Given the description of an element on the screen output the (x, y) to click on. 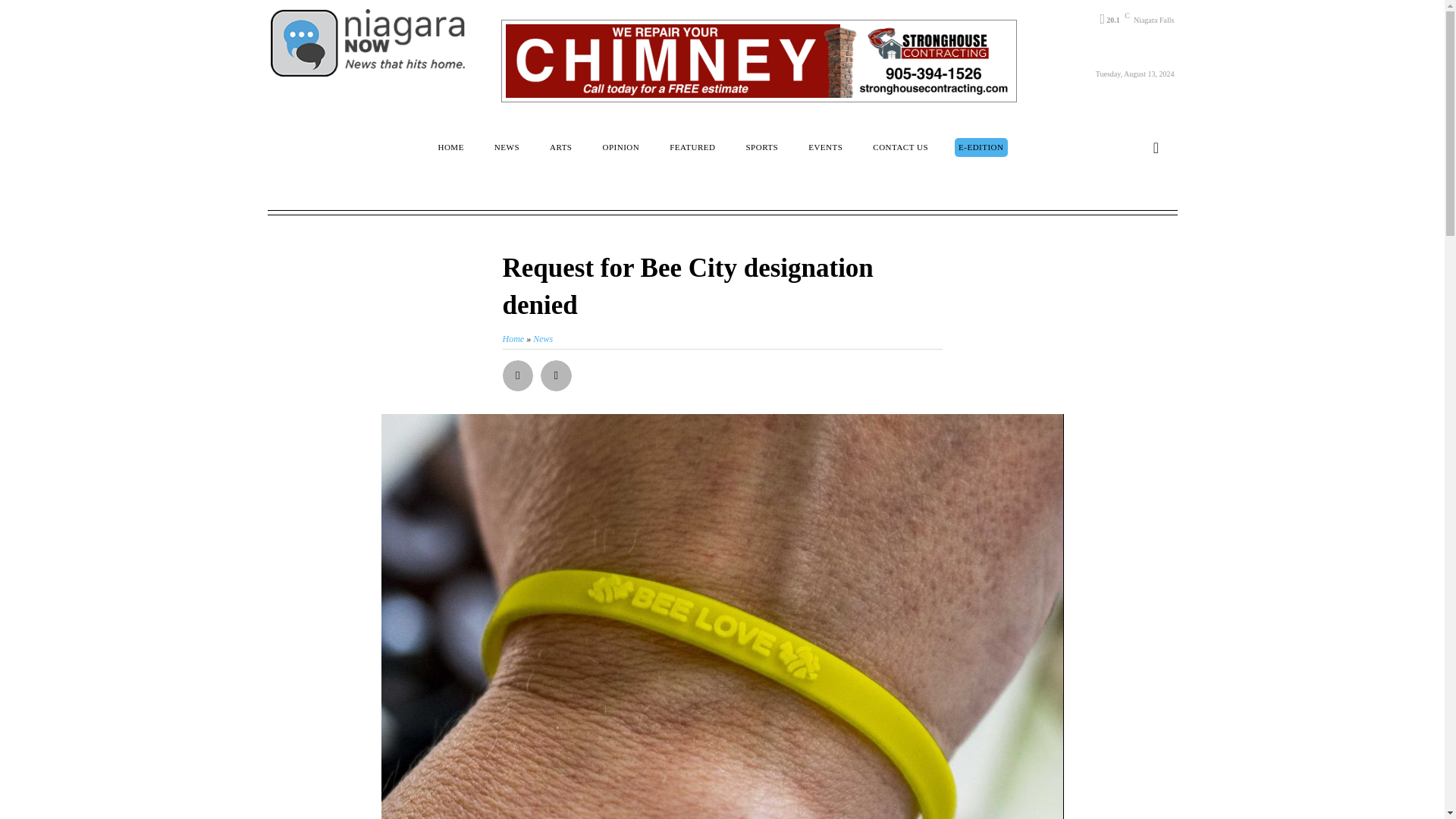
HOME (450, 147)
OPINION (620, 147)
FEATURED (692, 147)
NEWS (506, 147)
E-EDITION (981, 147)
SPORTS (761, 147)
ARTS (560, 147)
EVENTS (825, 147)
CONTACT US (900, 147)
